Given the description of an element on the screen output the (x, y) to click on. 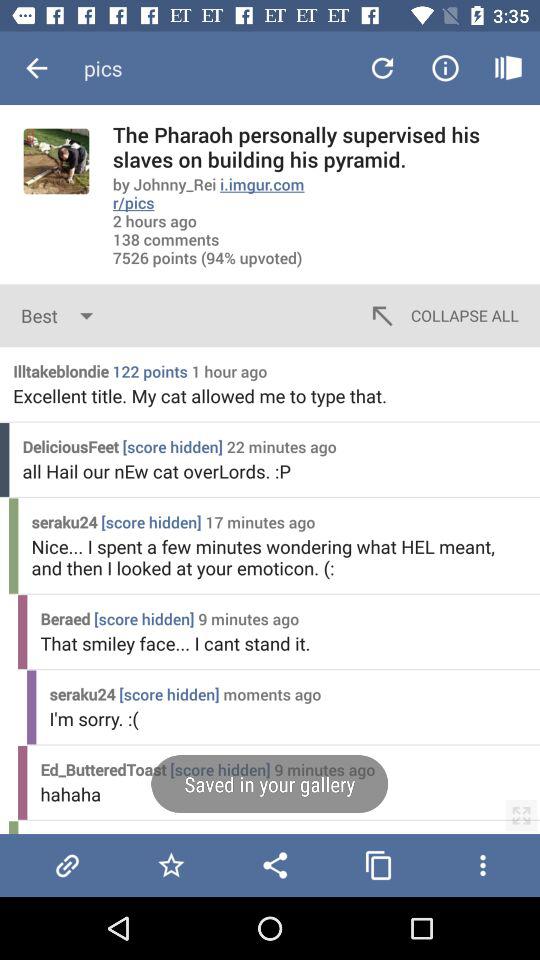
save (171, 865)
